Given the description of an element on the screen output the (x, y) to click on. 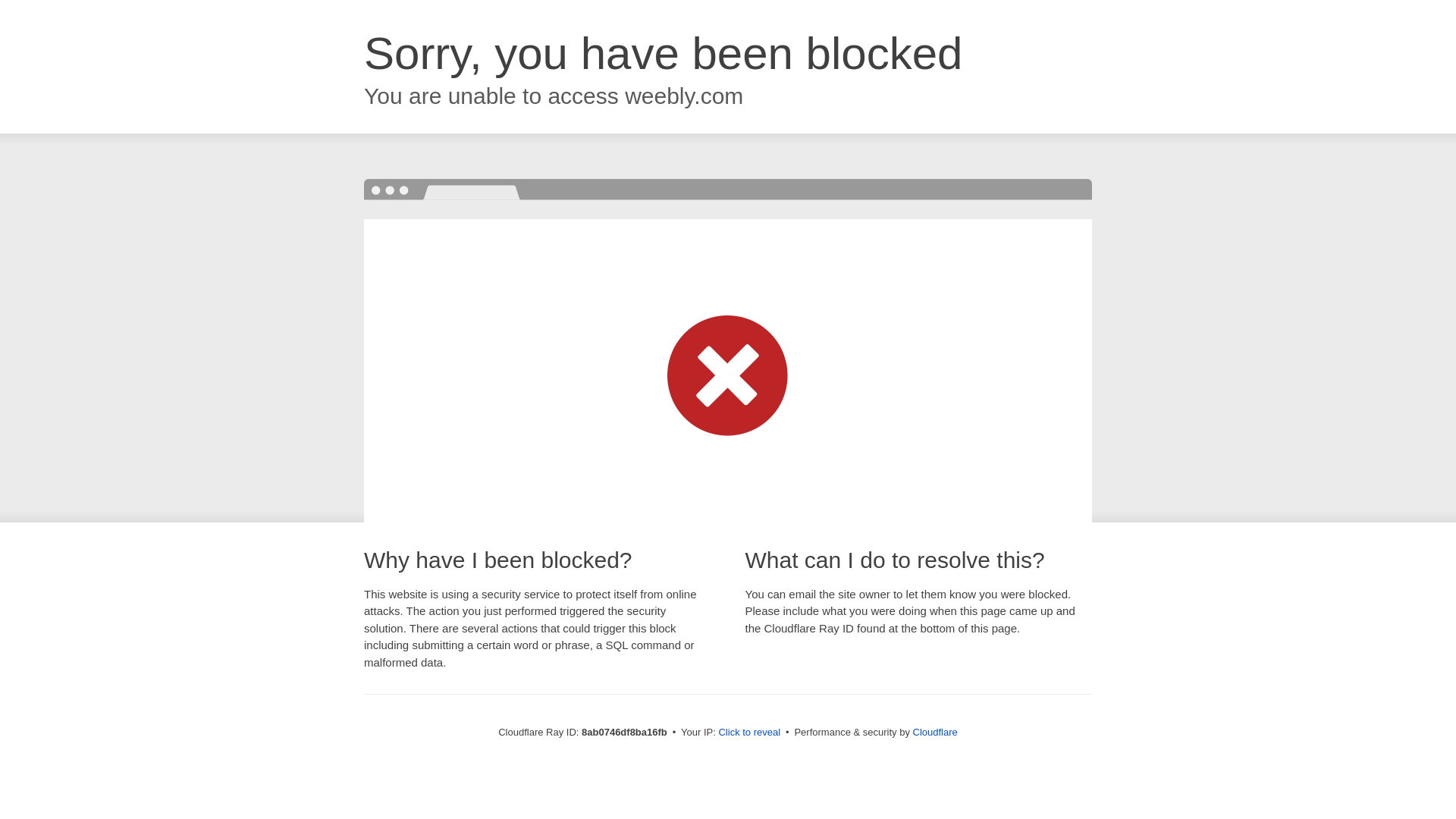
Click to reveal (748, 732)
Cloudflare (935, 731)
